Given the description of an element on the screen output the (x, y) to click on. 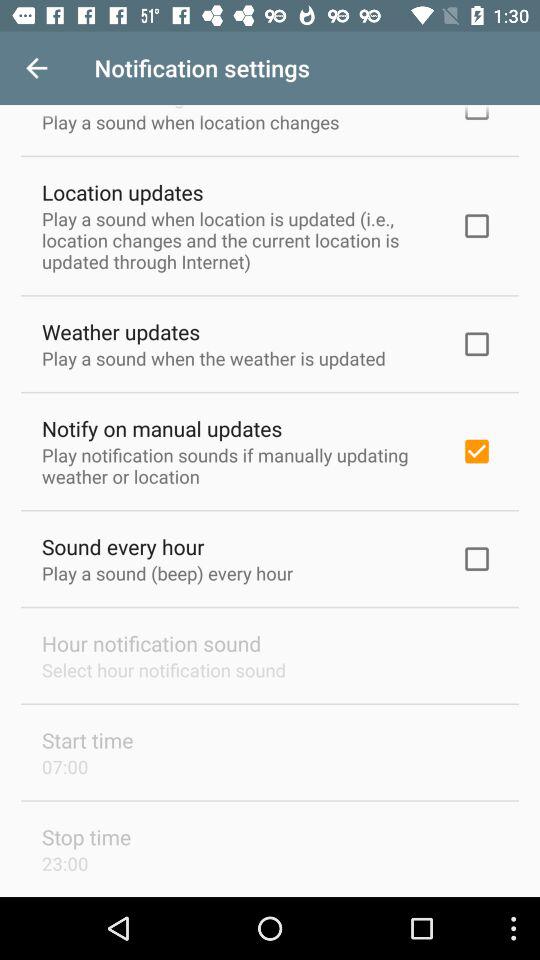
press the start time (87, 740)
